Given the description of an element on the screen output the (x, y) to click on. 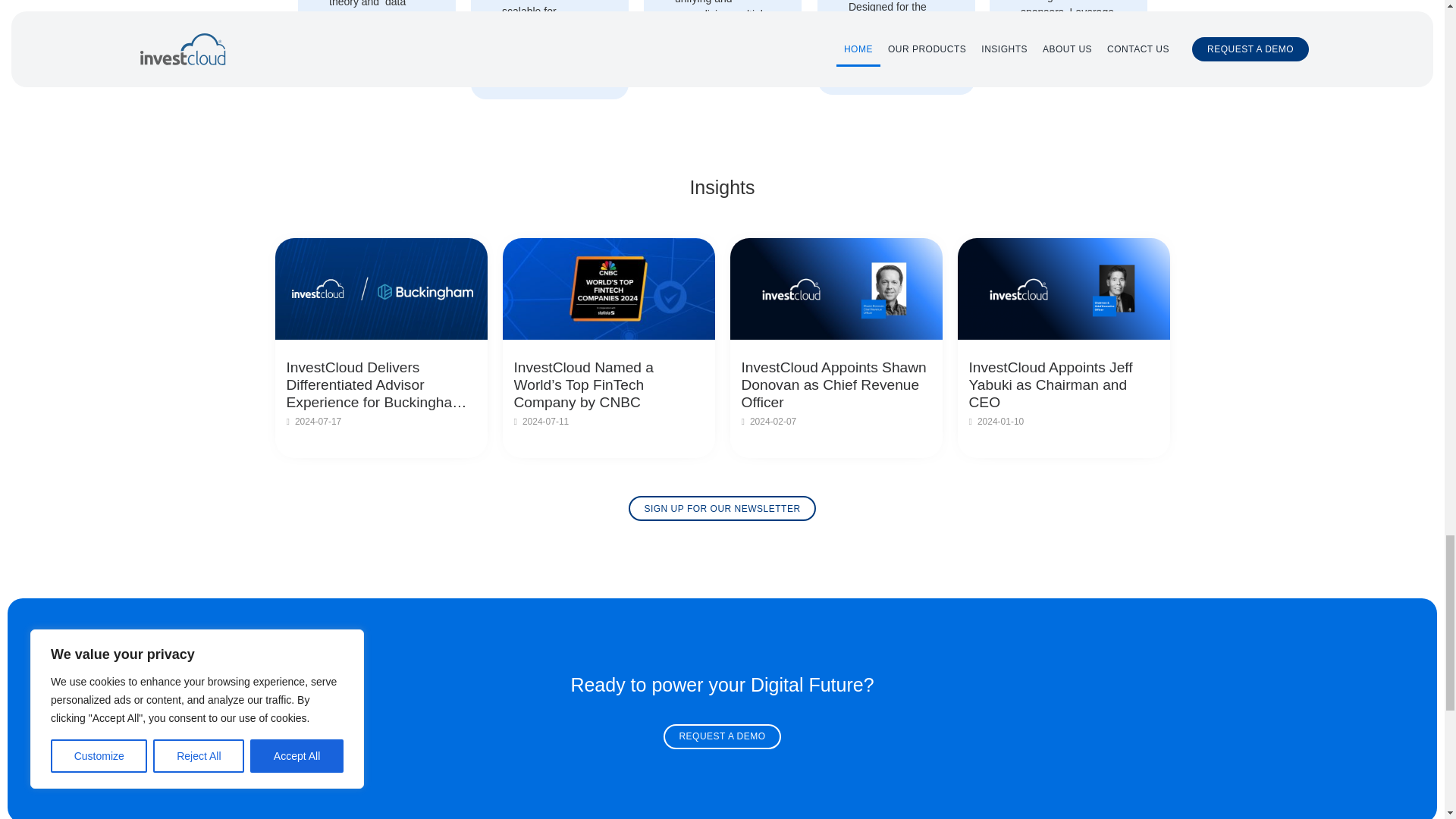
InvestCloud Appoints Jeff Yabuki as Chairman and CEO (1063, 384)
